Given the description of an element on the screen output the (x, y) to click on. 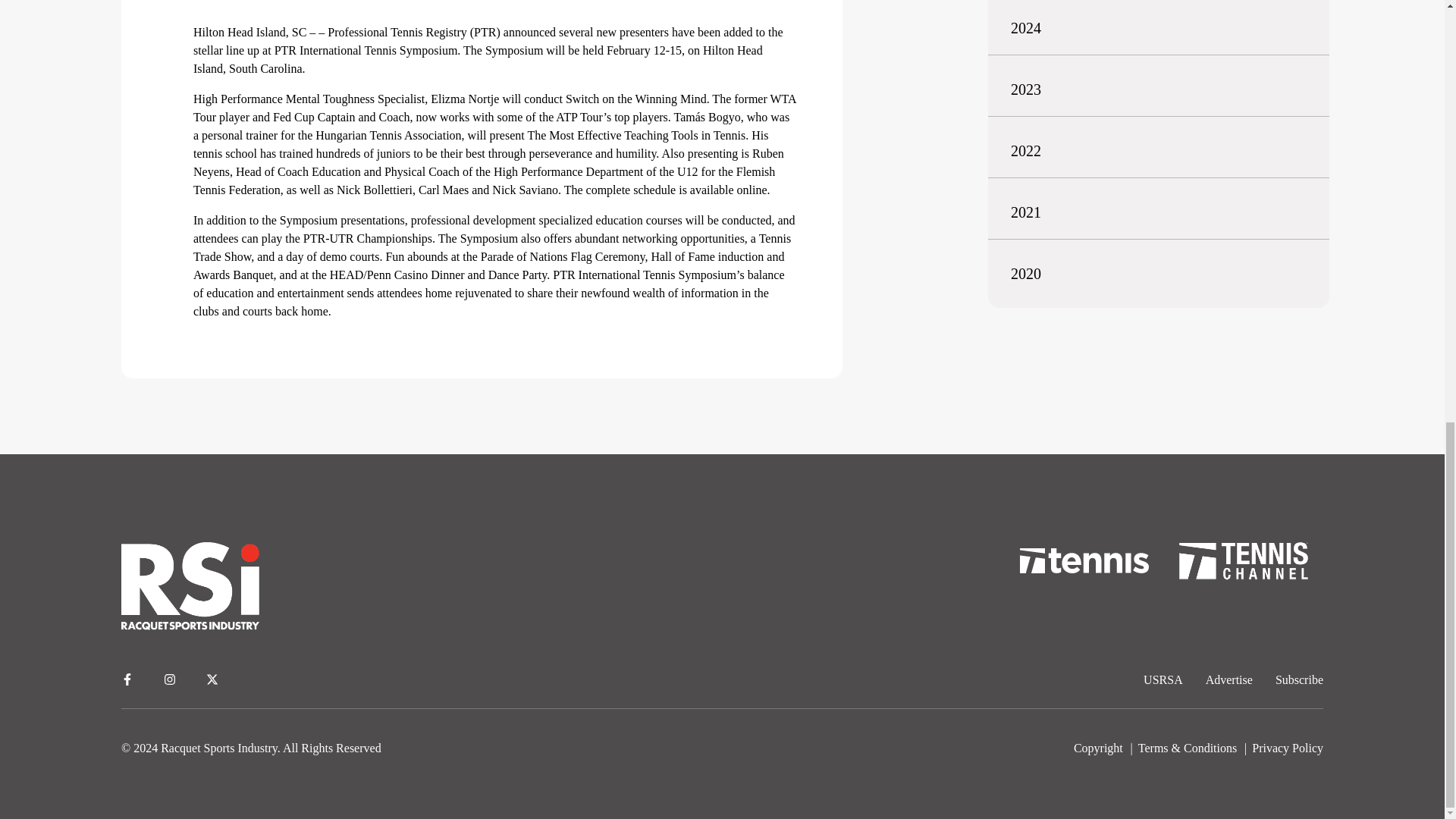
Privacy Policy (1287, 748)
USRSA (1162, 679)
2024 (1025, 27)
2021 (1025, 211)
2023 (1025, 89)
2020 (1025, 273)
Subscribe (1299, 679)
2022 (1025, 150)
Copyright (1098, 748)
Advertise (1228, 679)
